Given the description of an element on the screen output the (x, y) to click on. 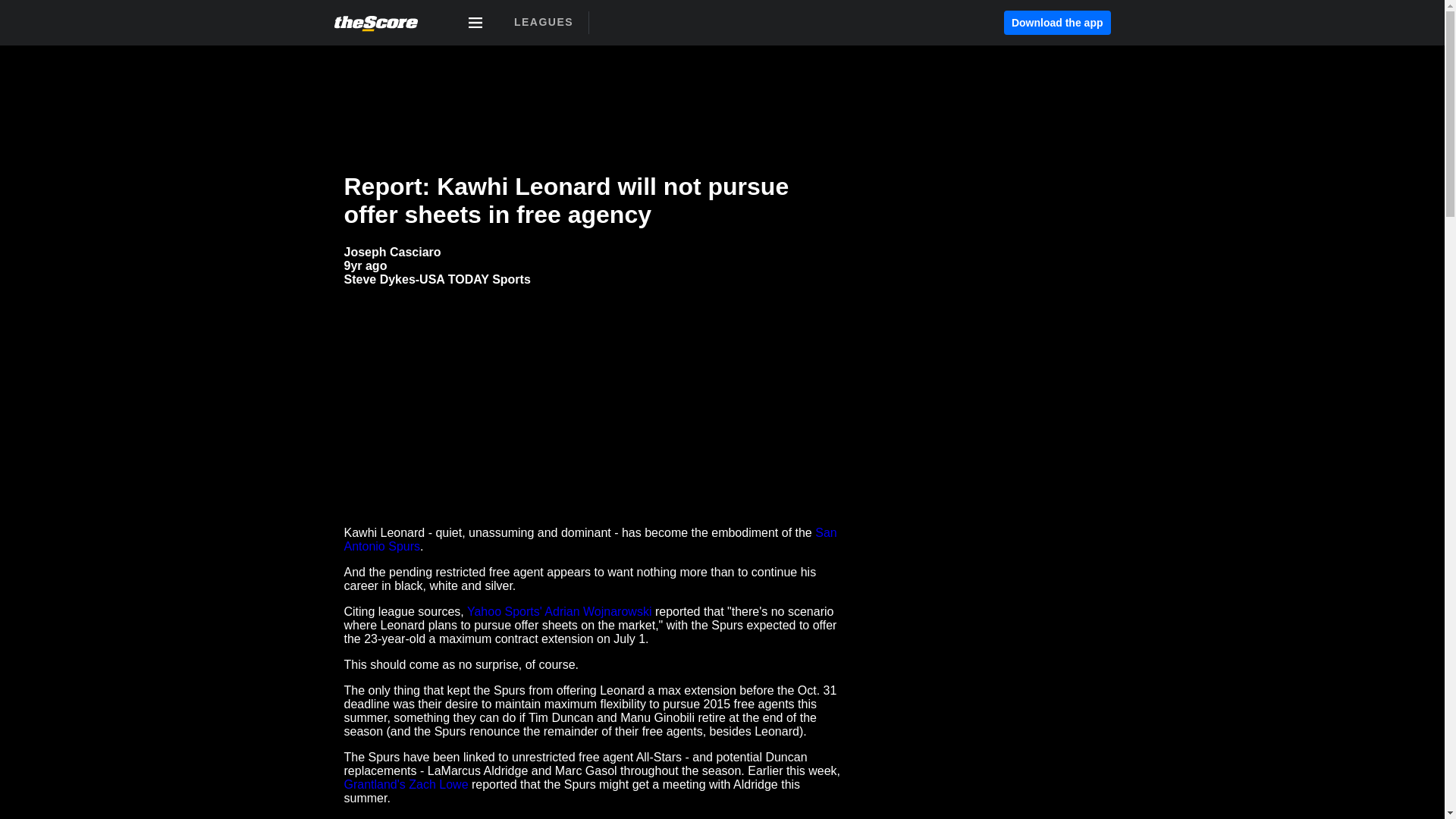
Joseph Casciaro (392, 251)
Grantland's Zach Lowe (405, 784)
LEAGUES (543, 22)
2015-04-25T14:24:15.000Z (365, 265)
Download the app (1057, 22)
San Antonio Spurs (590, 539)
Yahoo Sports' Adrian Wojnarowski (558, 611)
